Given the description of an element on the screen output the (x, y) to click on. 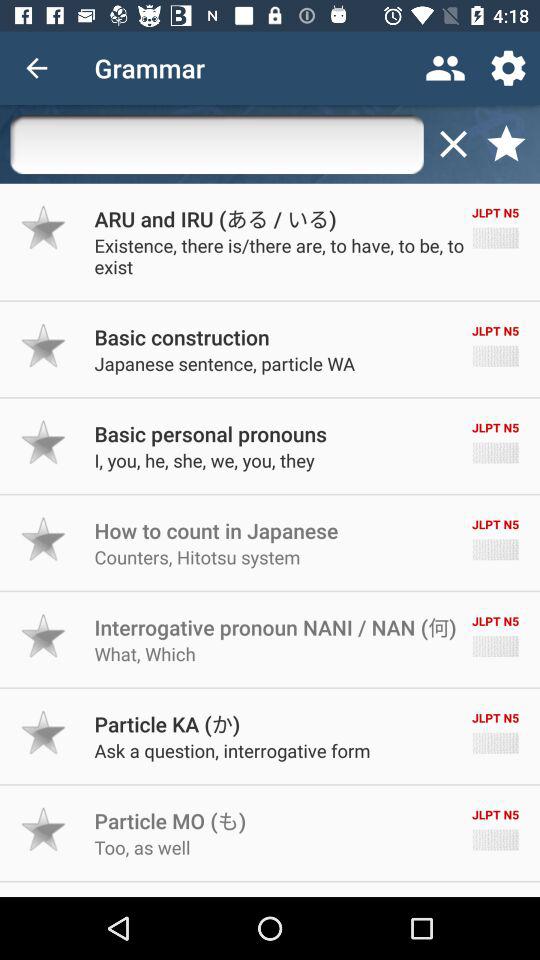
add aru and iru to favorites (44, 227)
